Given the description of an element on the screen output the (x, y) to click on. 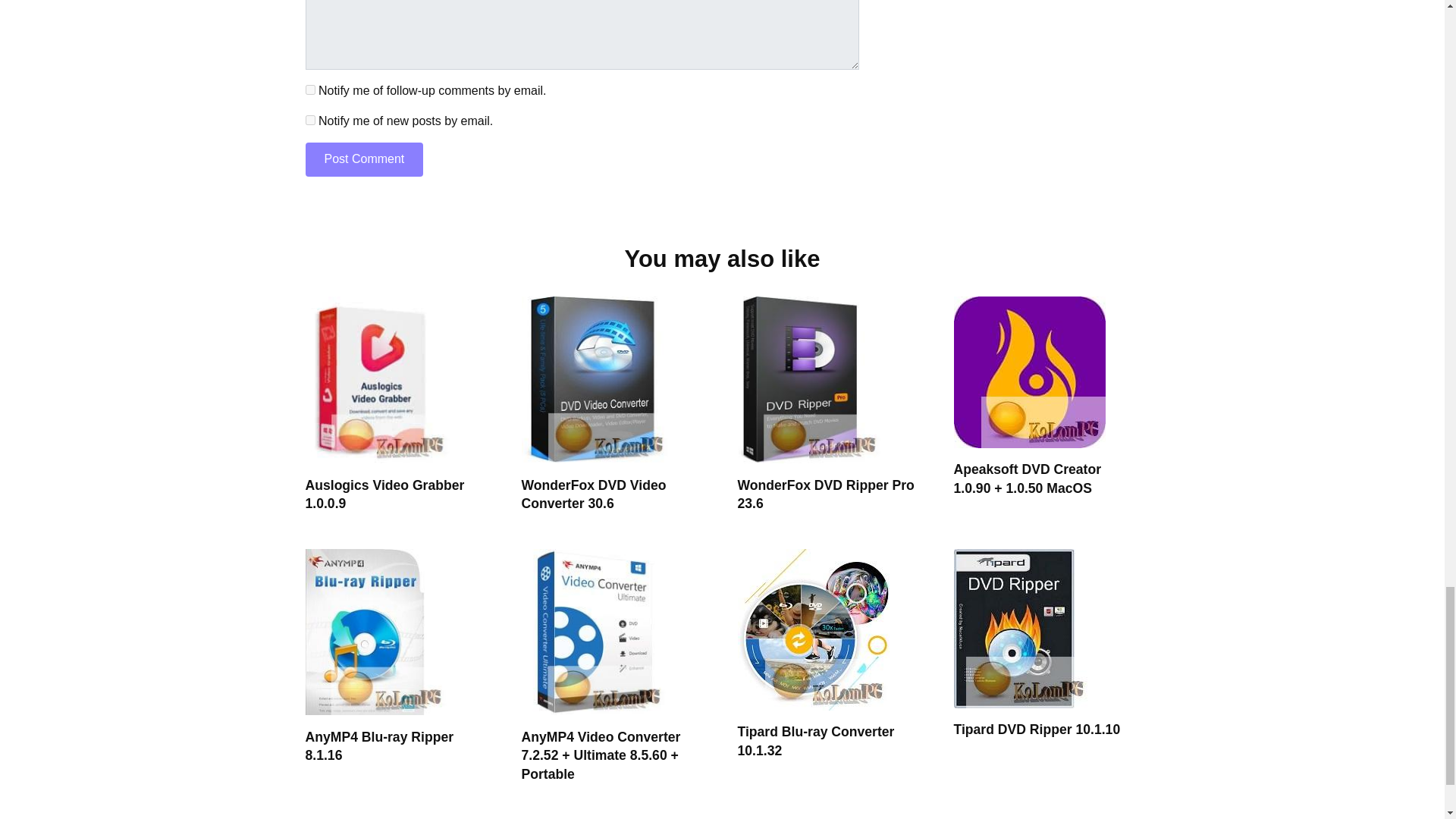
subscribe (309, 120)
subscribe (309, 90)
Post Comment (363, 159)
